Given the description of an element on the screen output the (x, y) to click on. 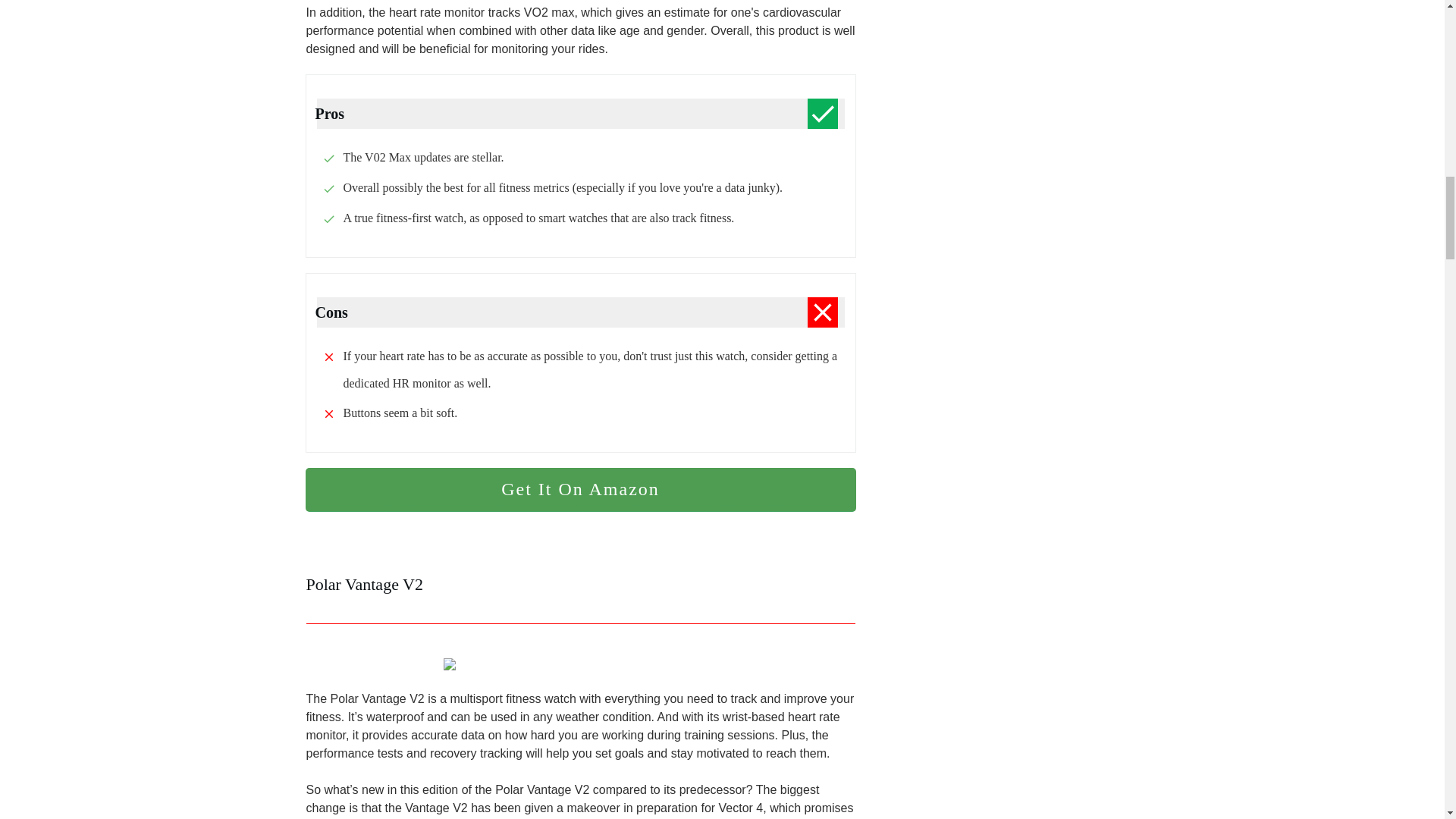
Get It On Amazon (580, 489)
